Given the description of an element on the screen output the (x, y) to click on. 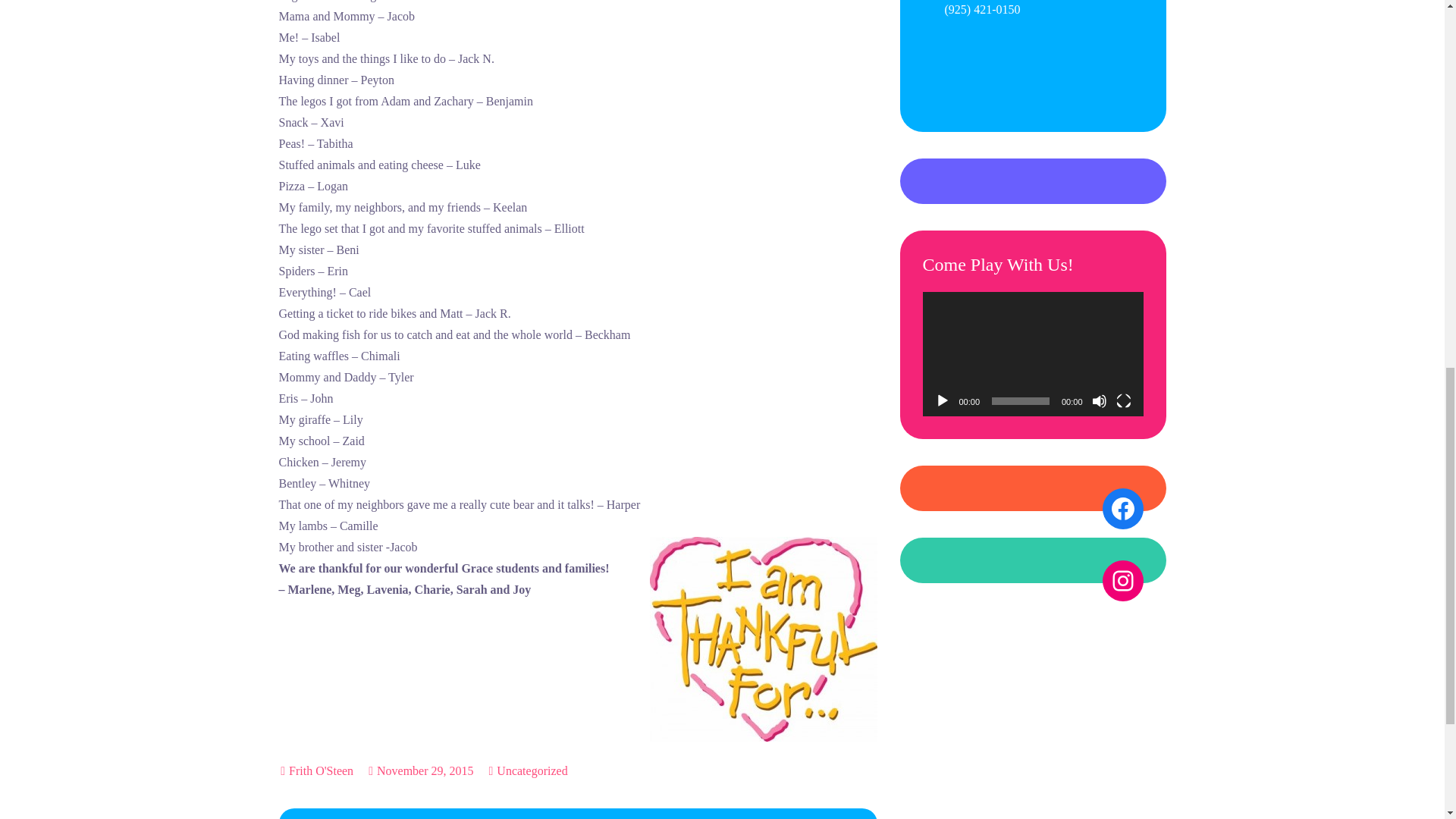
Play (941, 400)
Instagram (1122, 580)
Frith O'Steen (320, 770)
Fullscreen (1123, 400)
Mute (1099, 400)
Uncategorized (531, 771)
November 29, 2015 (420, 770)
Facebook (1122, 508)
